Given the description of an element on the screen output the (x, y) to click on. 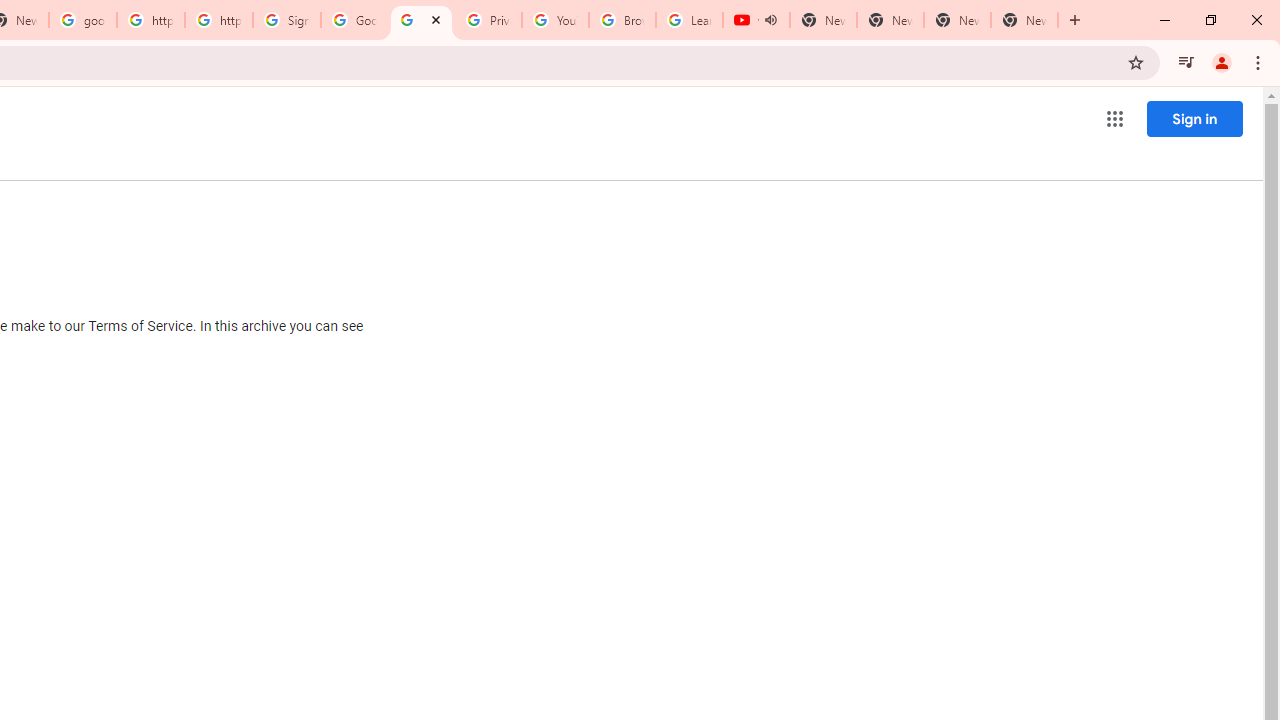
Sign in - Google Accounts (287, 20)
YouTube (555, 20)
